Given the description of an element on the screen output the (x, y) to click on. 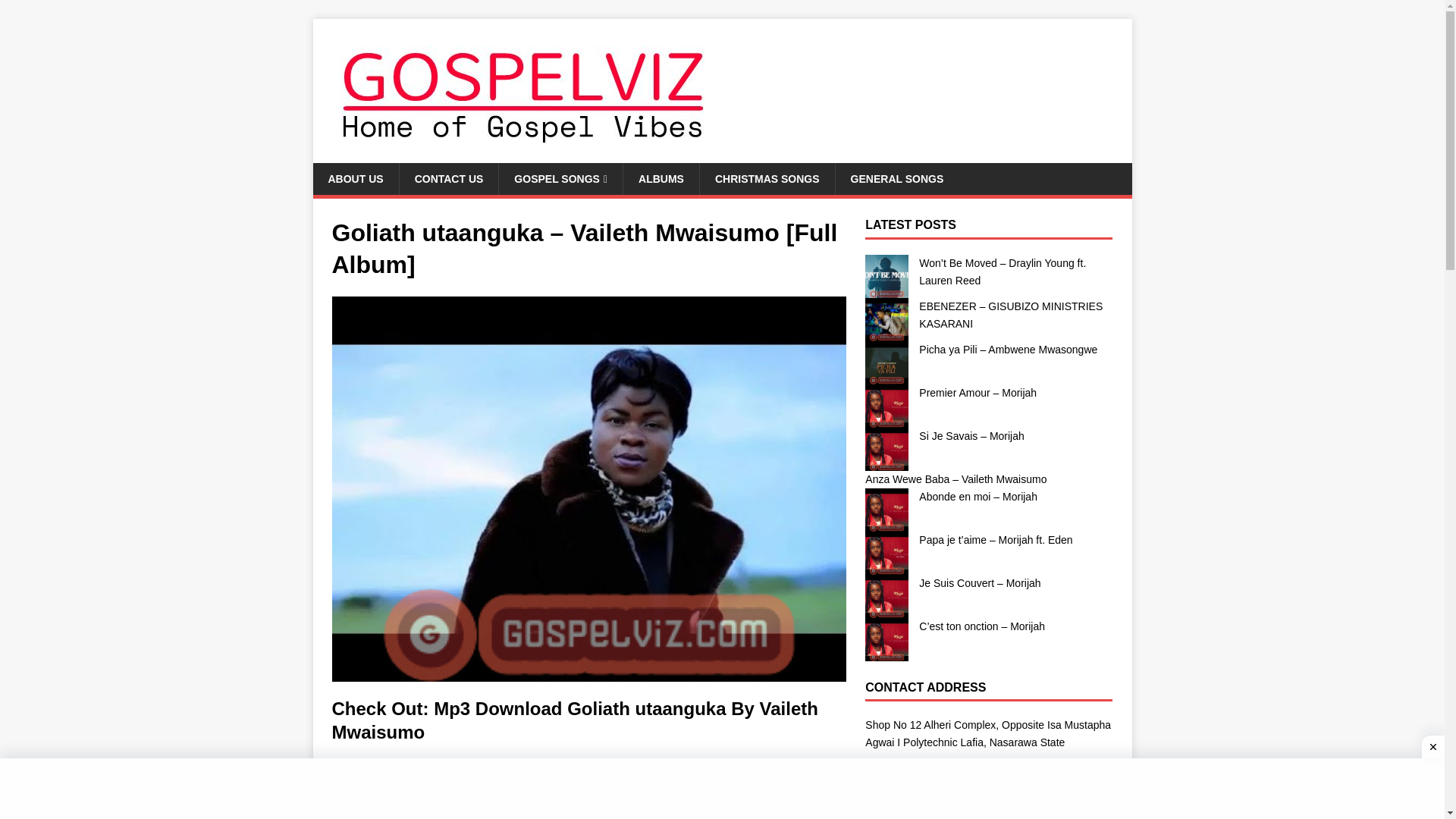
CONTACT US (448, 178)
ABOUT US (355, 178)
ALBUMS (660, 178)
GENERAL SONGS (896, 178)
CHRISTMAS SONGS (766, 178)
GOSPEL SONGS (560, 178)
